Given the description of an element on the screen output the (x, y) to click on. 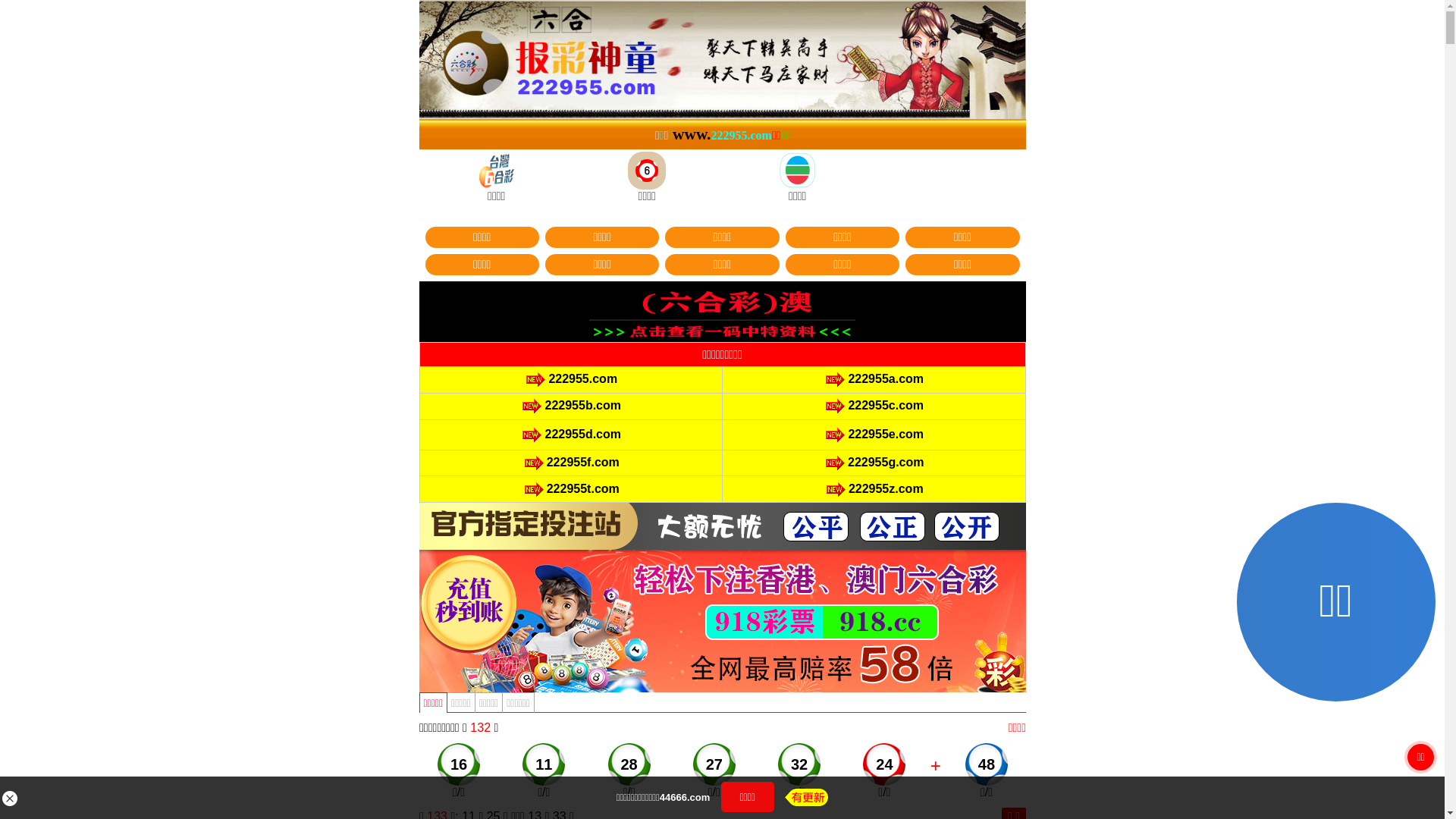
U7.cc Element type: text (657, 512)
8898.cc Element type: text (658, 445)
8228.cc Element type: text (658, 543)
1877.bet Element type: text (786, 512)
2050.biz Element type: text (786, 478)
8i.cc Element type: text (657, 478)
9797.cc Element type: text (786, 445)
2023.cc Element type: text (786, 543)
